Given the description of an element on the screen output the (x, y) to click on. 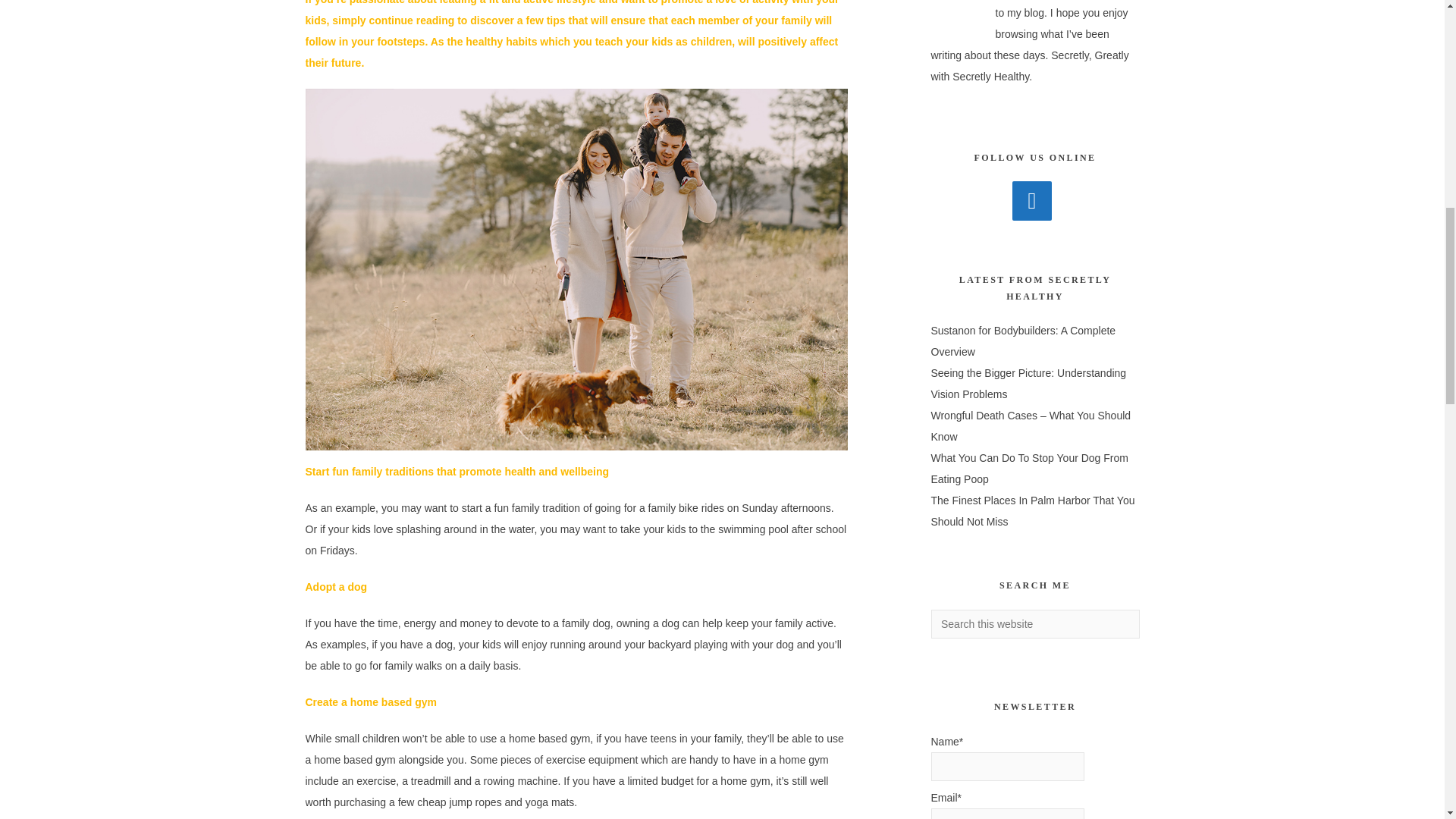
Sustanon for Bodybuilders: A Complete Overview (1023, 340)
Facebook (1031, 200)
What You Can Do To Stop Your Dog From Eating Poop (1029, 468)
Seeing the Bigger Picture: Understanding Vision Problems (1028, 383)
The Finest Places In Palm Harbor That You Should Not Miss (1033, 510)
